Given the description of an element on the screen output the (x, y) to click on. 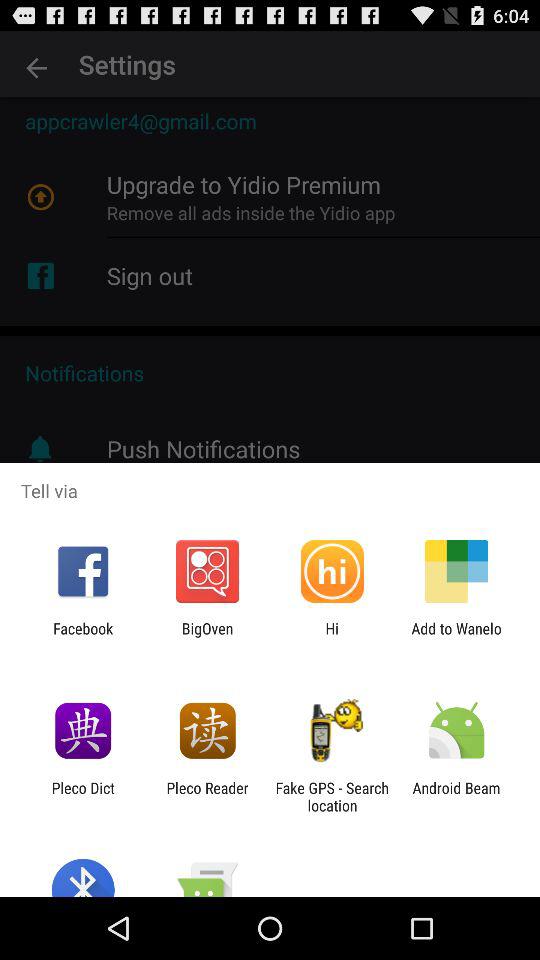
turn on the item to the right of pleco reader app (332, 796)
